Given the description of an element on the screen output the (x, y) to click on. 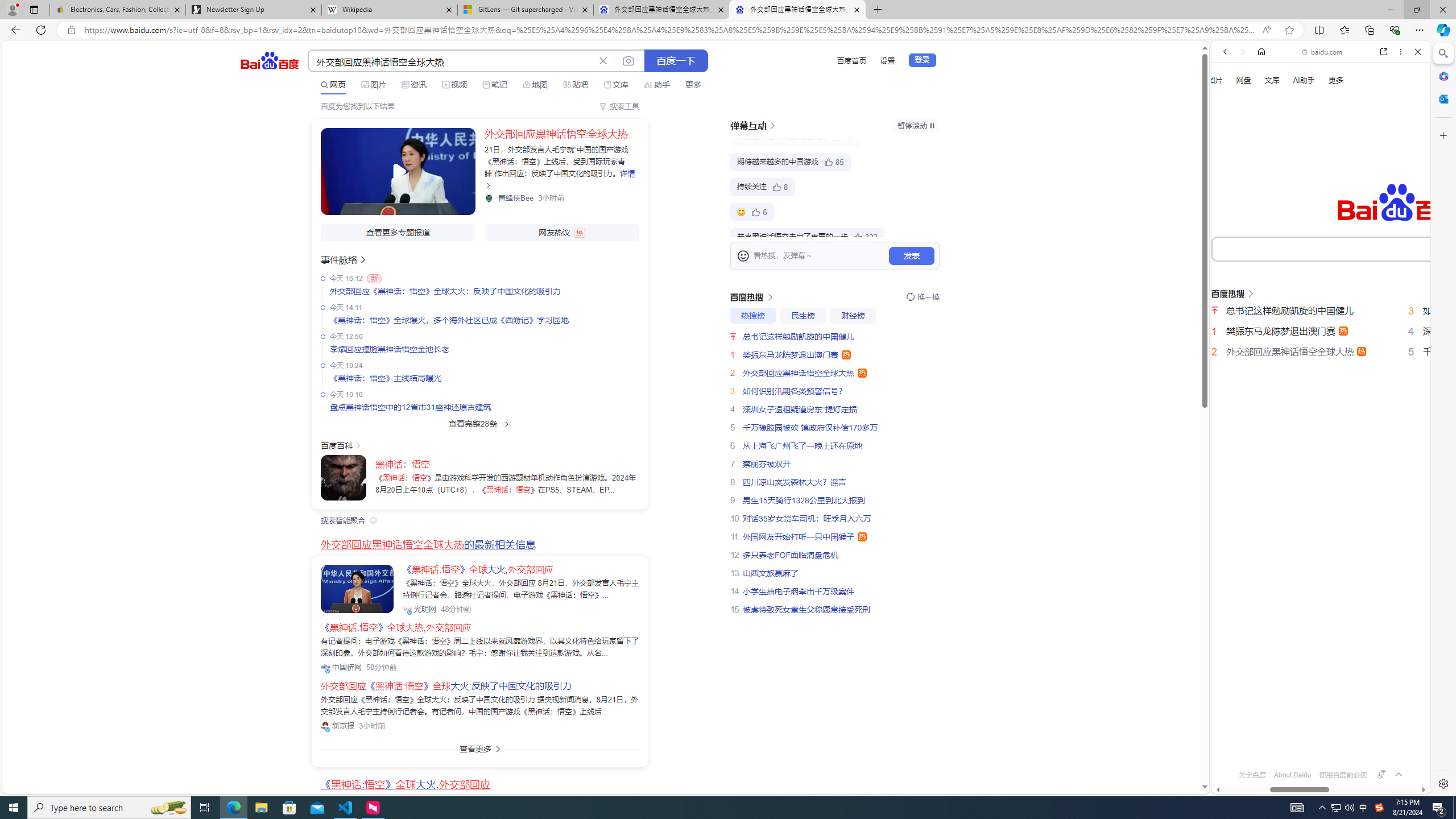
Close (1417, 51)
Copilot (Ctrl+Shift+.) (1442, 29)
OFTV - Enjoy videos from your favorite OF creators! (1315, 753)
English (US) (1320, 329)
Cambridge Dictionary (1315, 397)
Preferences (1403, 191)
